Given the description of an element on the screen output the (x, y) to click on. 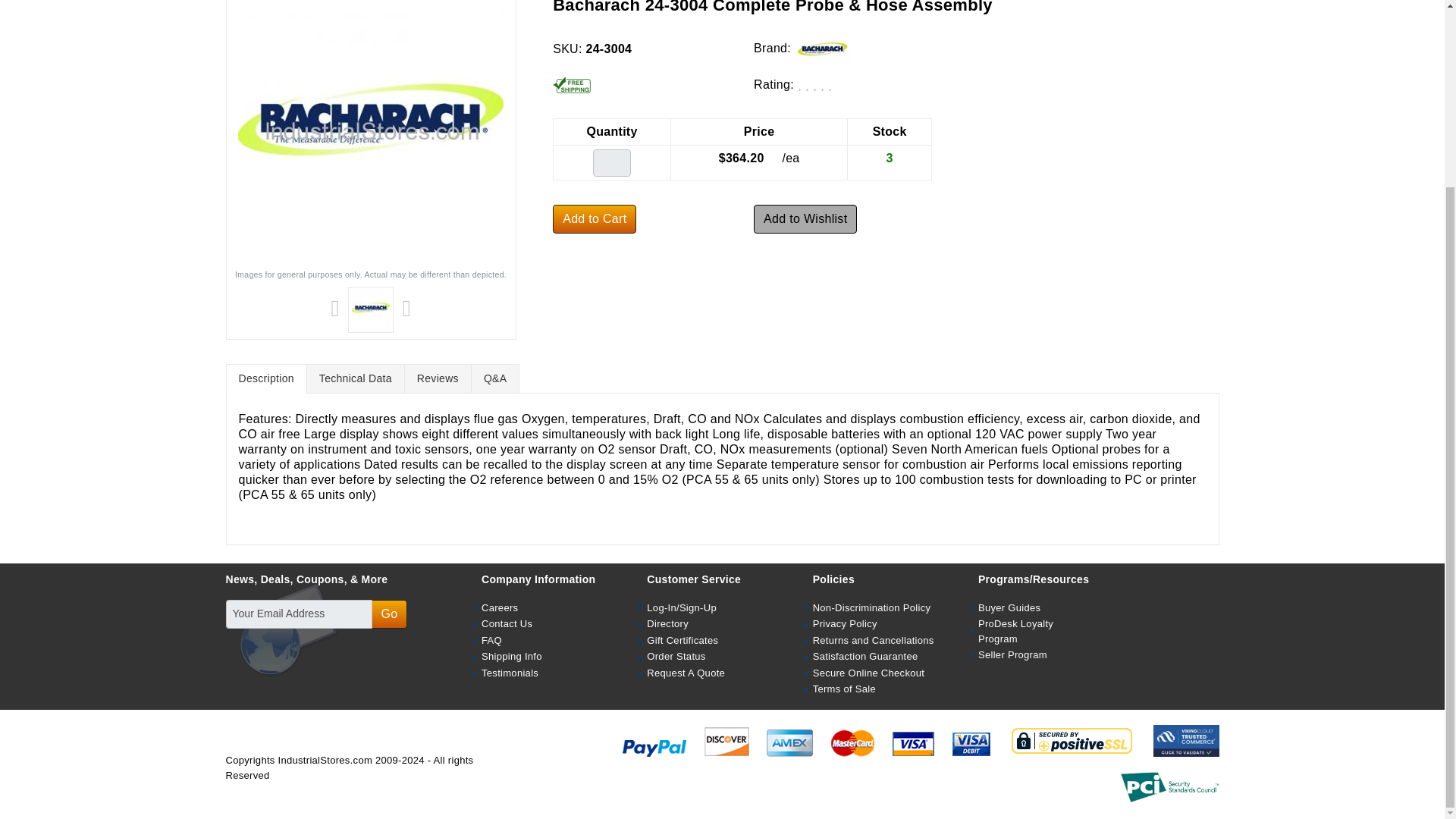
Technical Data (354, 378)
Description (266, 378)
Add to Cart (594, 218)
Reviews (437, 378)
Add to Wishlist (805, 218)
